Given the description of an element on the screen output the (x, y) to click on. 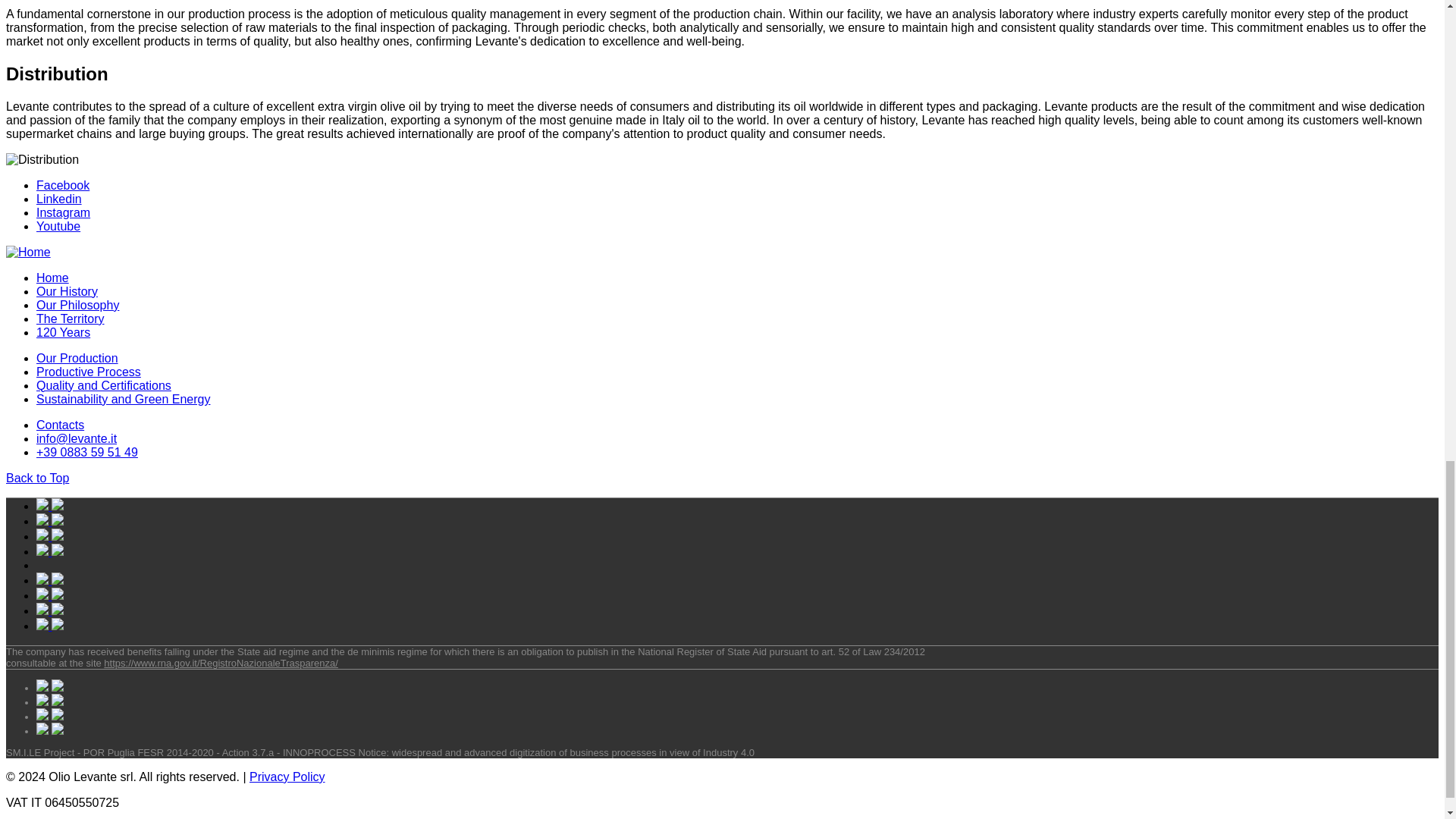
Our Philosophy (77, 305)
Home (52, 277)
Our Production (76, 358)
Facebook (62, 185)
Back to Top (36, 477)
Our History (66, 291)
Quality and Certifications (103, 385)
Productive Process (88, 371)
Contacts (60, 424)
The Territory (70, 318)
Linkedin (58, 198)
Instagram (63, 212)
120 Years (63, 332)
Youtube (58, 226)
Sustainability and Green Energy (122, 399)
